Given the description of an element on the screen output the (x, y) to click on. 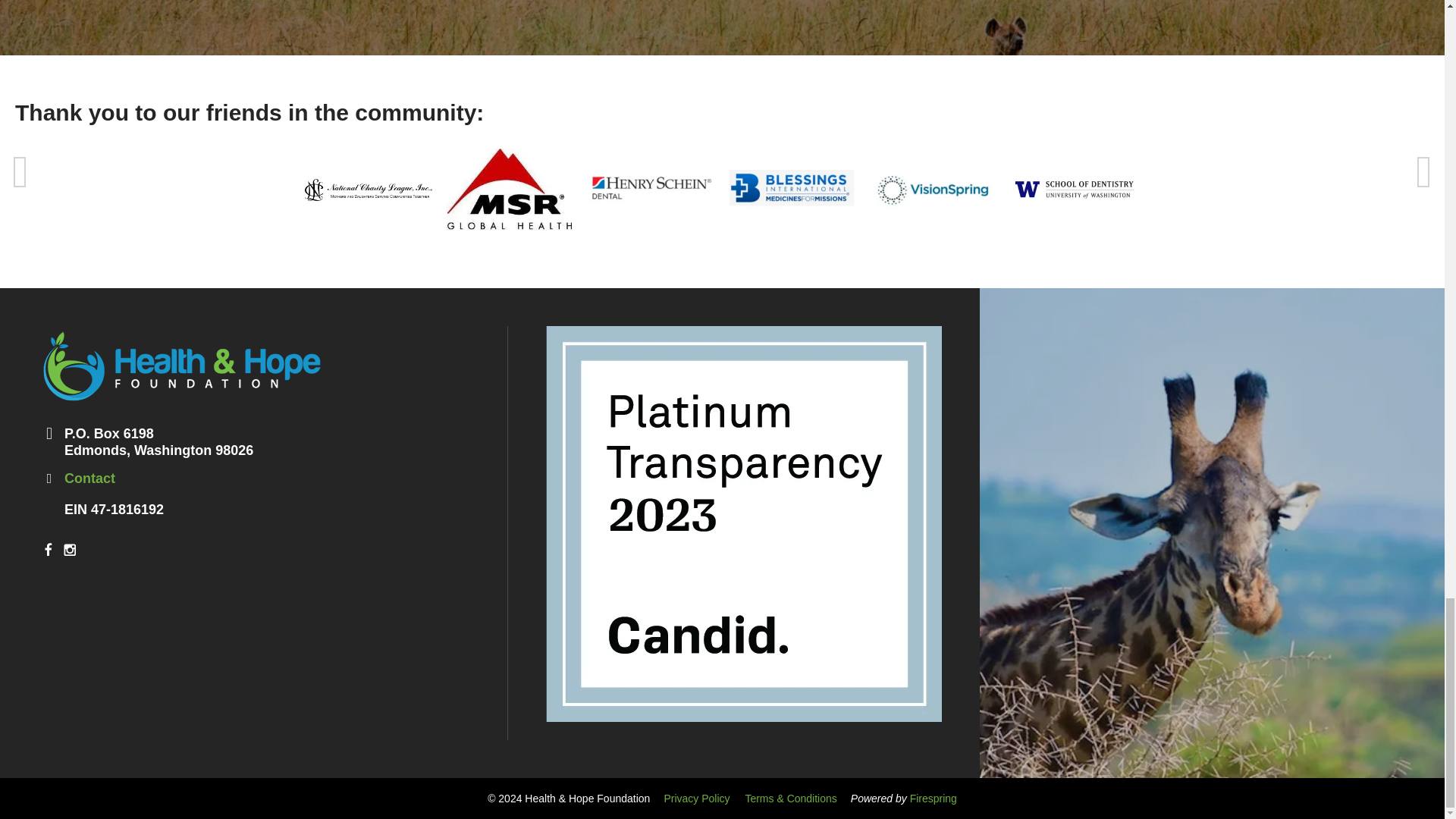
logo (181, 365)
